Given the description of an element on the screen output the (x, y) to click on. 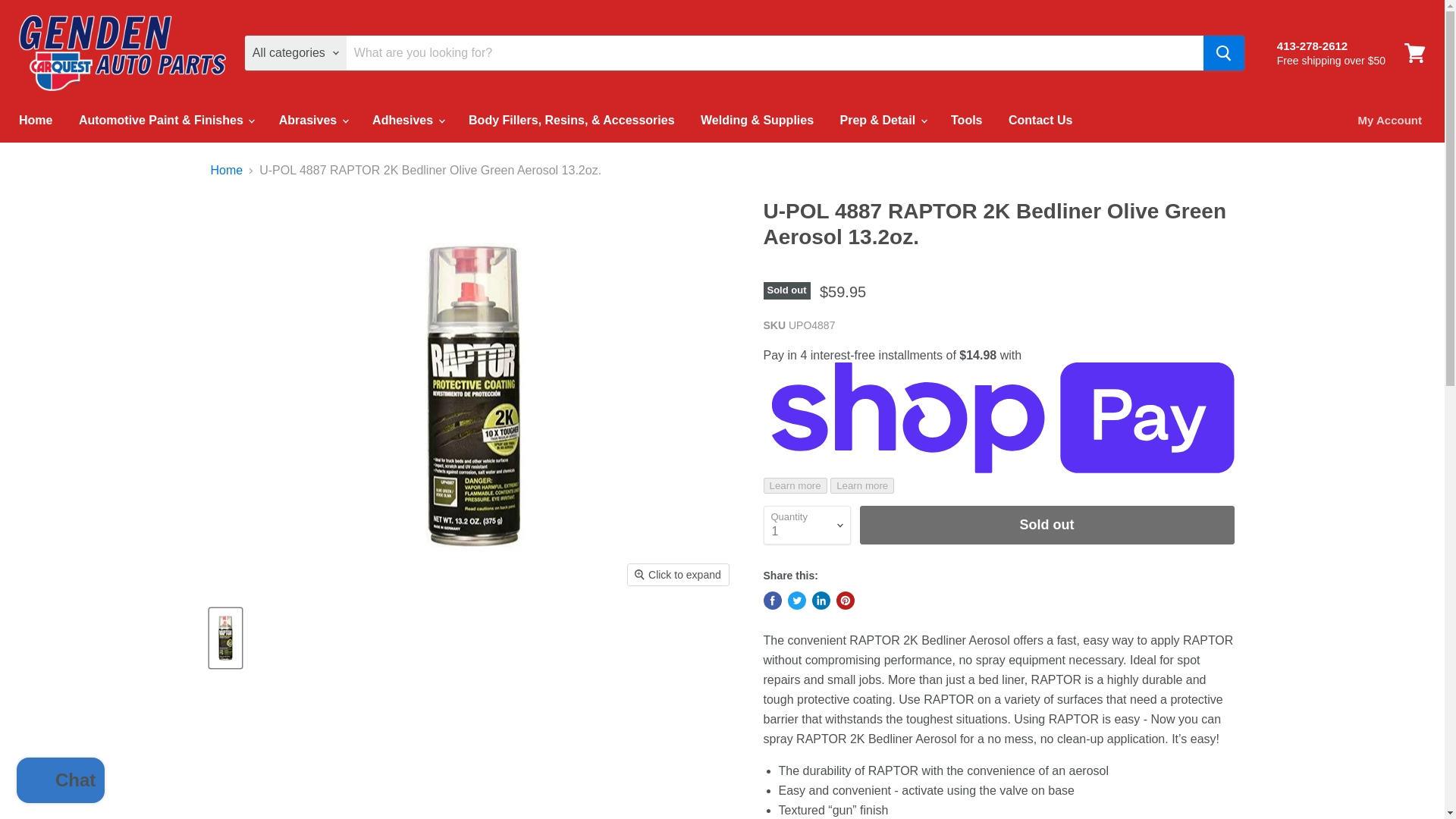
Abrasives (312, 120)
Adhesives (406, 120)
Home (35, 120)
View cart (1414, 53)
Shopify online store chat (60, 781)
